Given the description of an element on the screen output the (x, y) to click on. 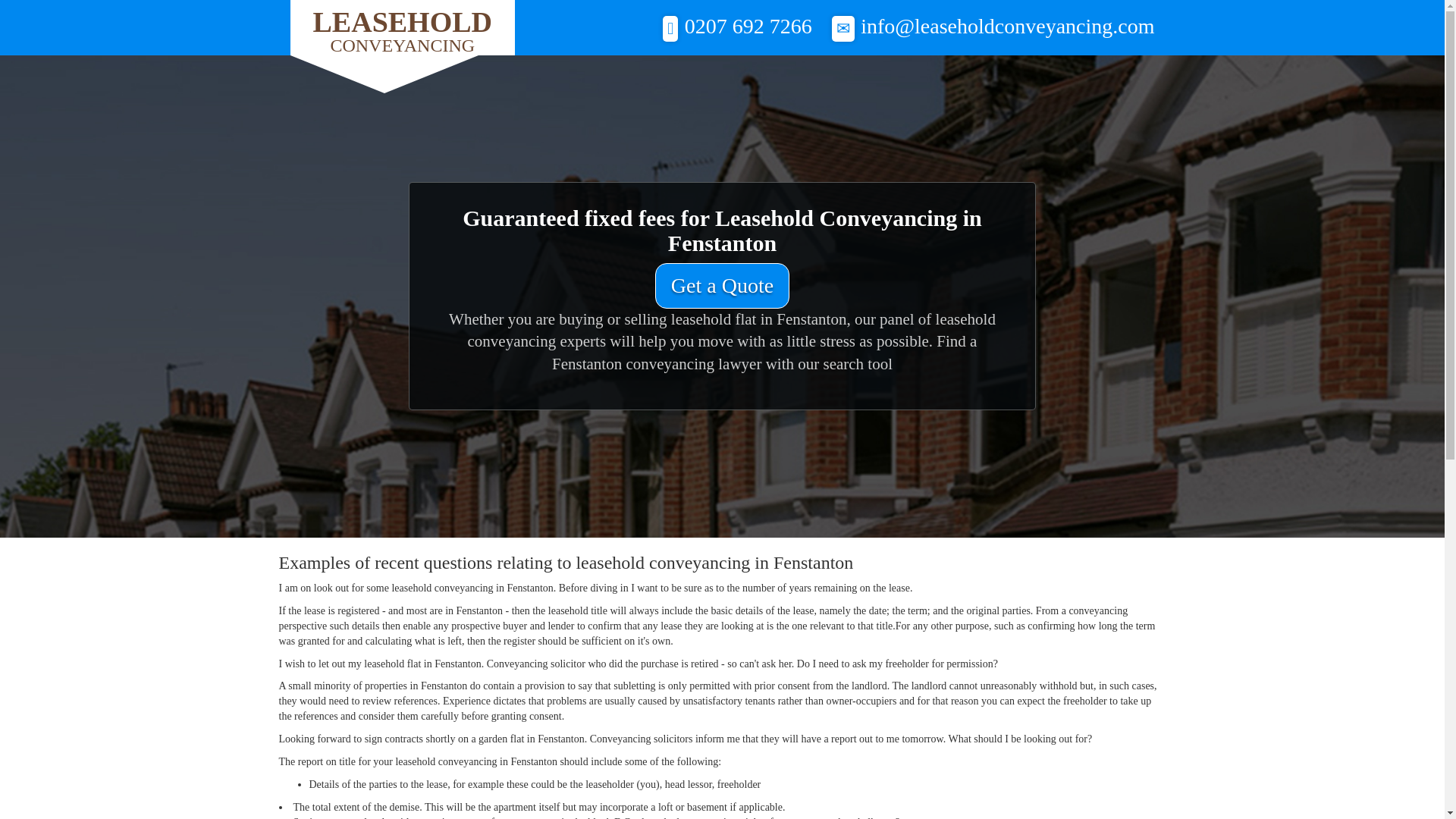
Get a Quote (402, 27)
0207 692 7266 (722, 285)
